Given the description of an element on the screen output the (x, y) to click on. 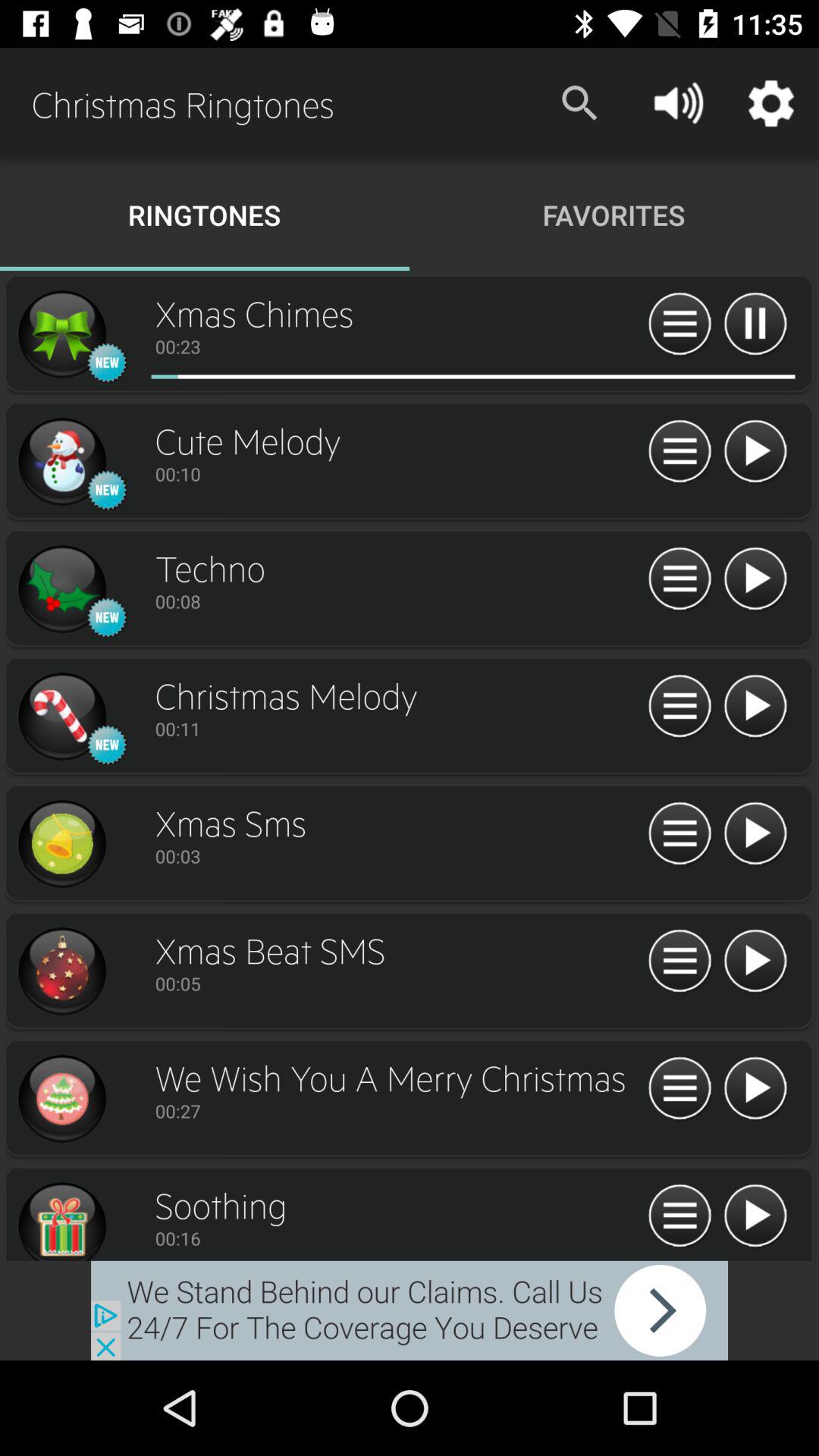
explore techno option (61, 589)
